Given the description of an element on the screen output the (x, y) to click on. 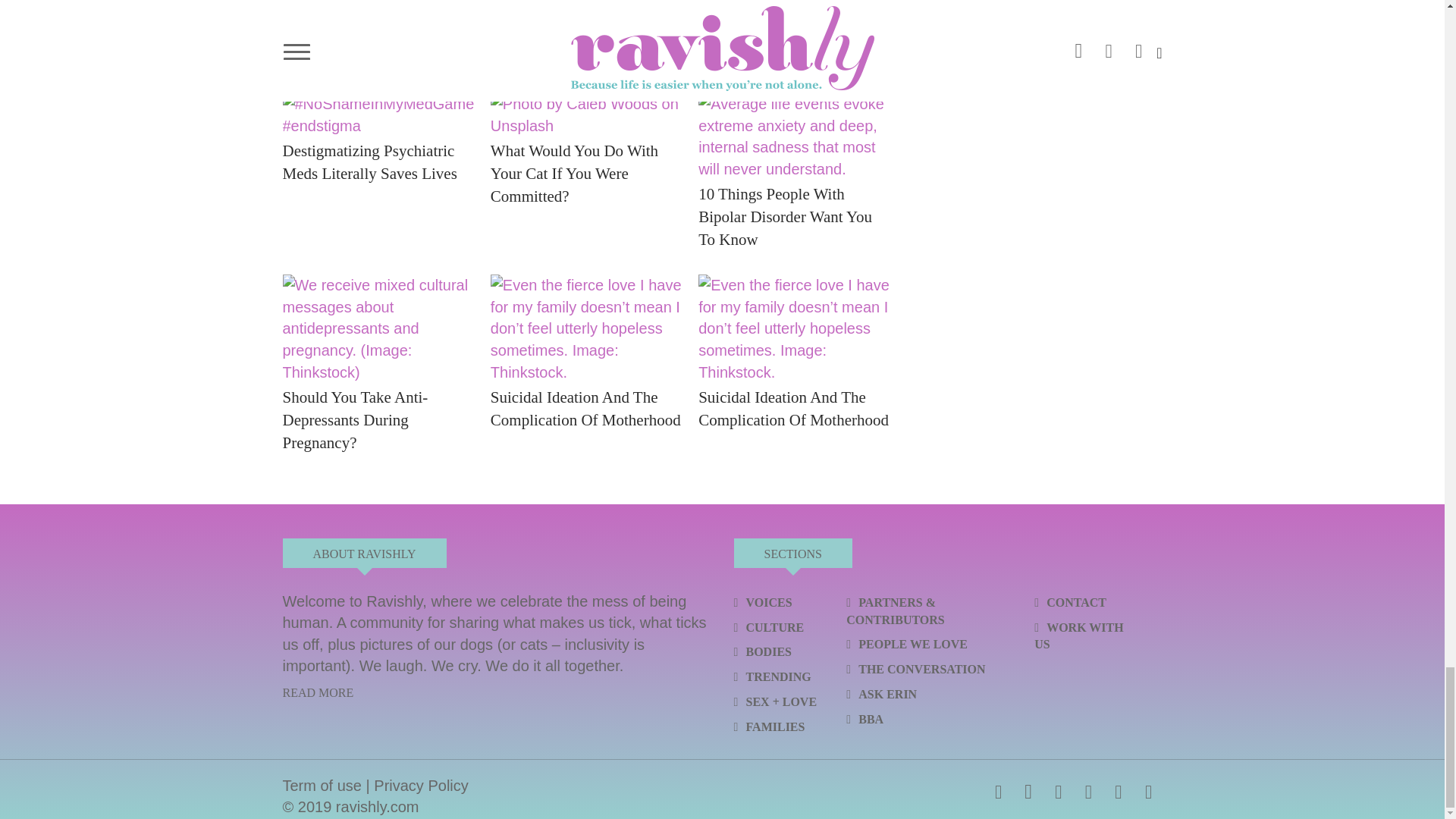
Photo by Caleb Woods on Unsplash (586, 114)
